Given the description of an element on the screen output the (x, y) to click on. 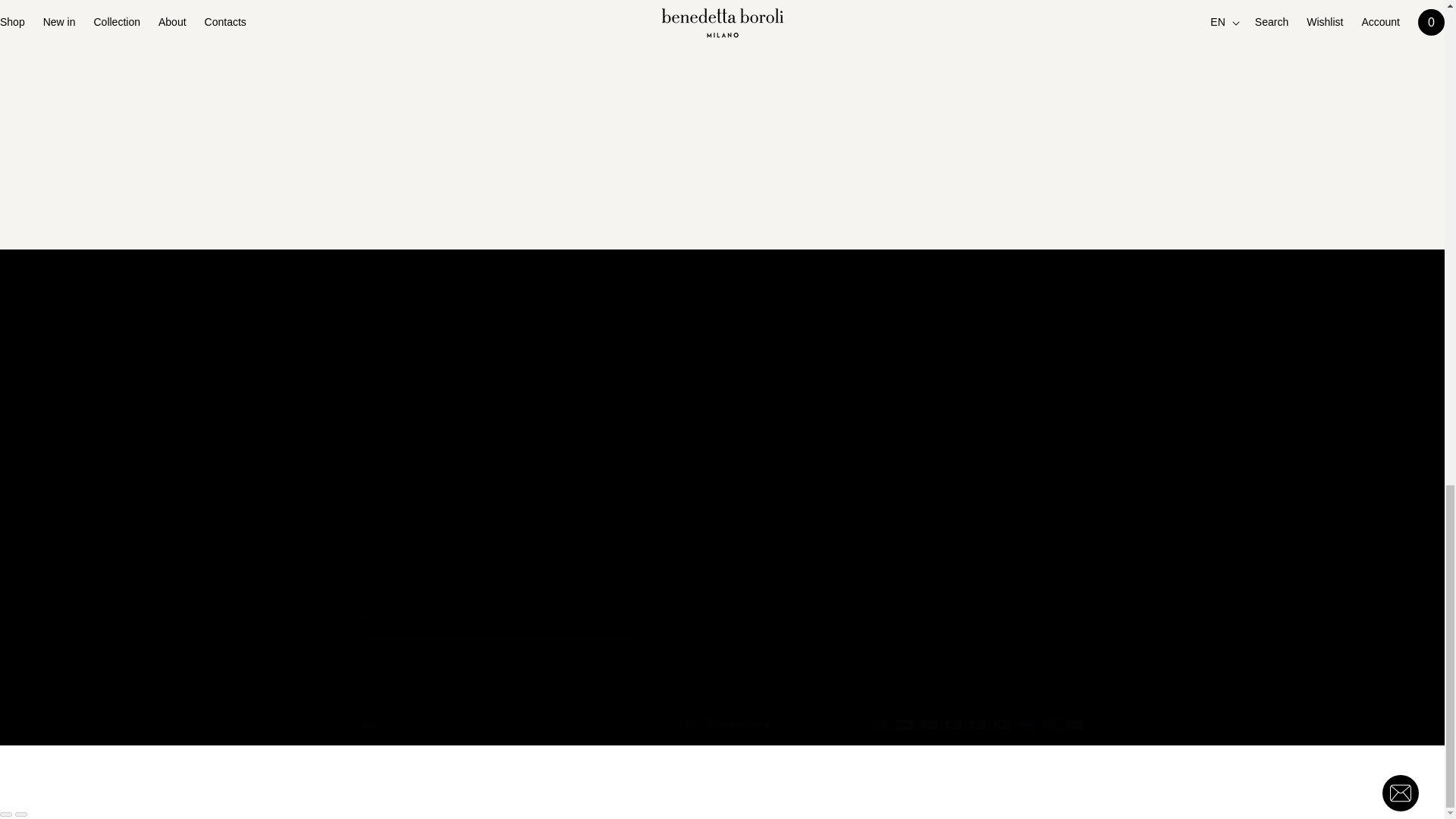
0 (530, 140)
Email (498, 53)
0 (885, 140)
